Given the description of an element on the screen output the (x, y) to click on. 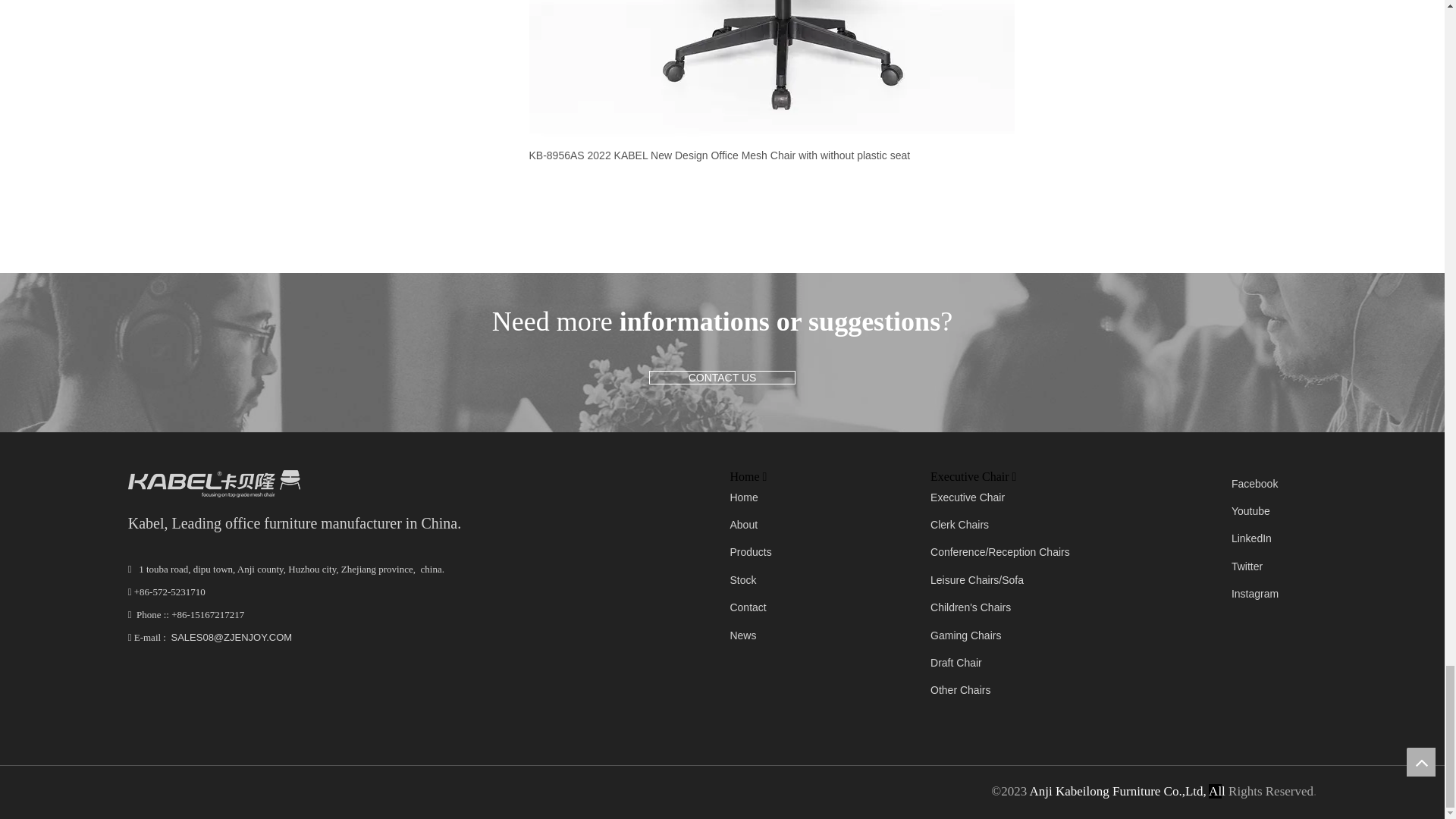
Products (750, 551)
About (743, 524)
Contact (747, 607)
Home (743, 497)
Stock (742, 580)
